Given the description of an element on the screen output the (x, y) to click on. 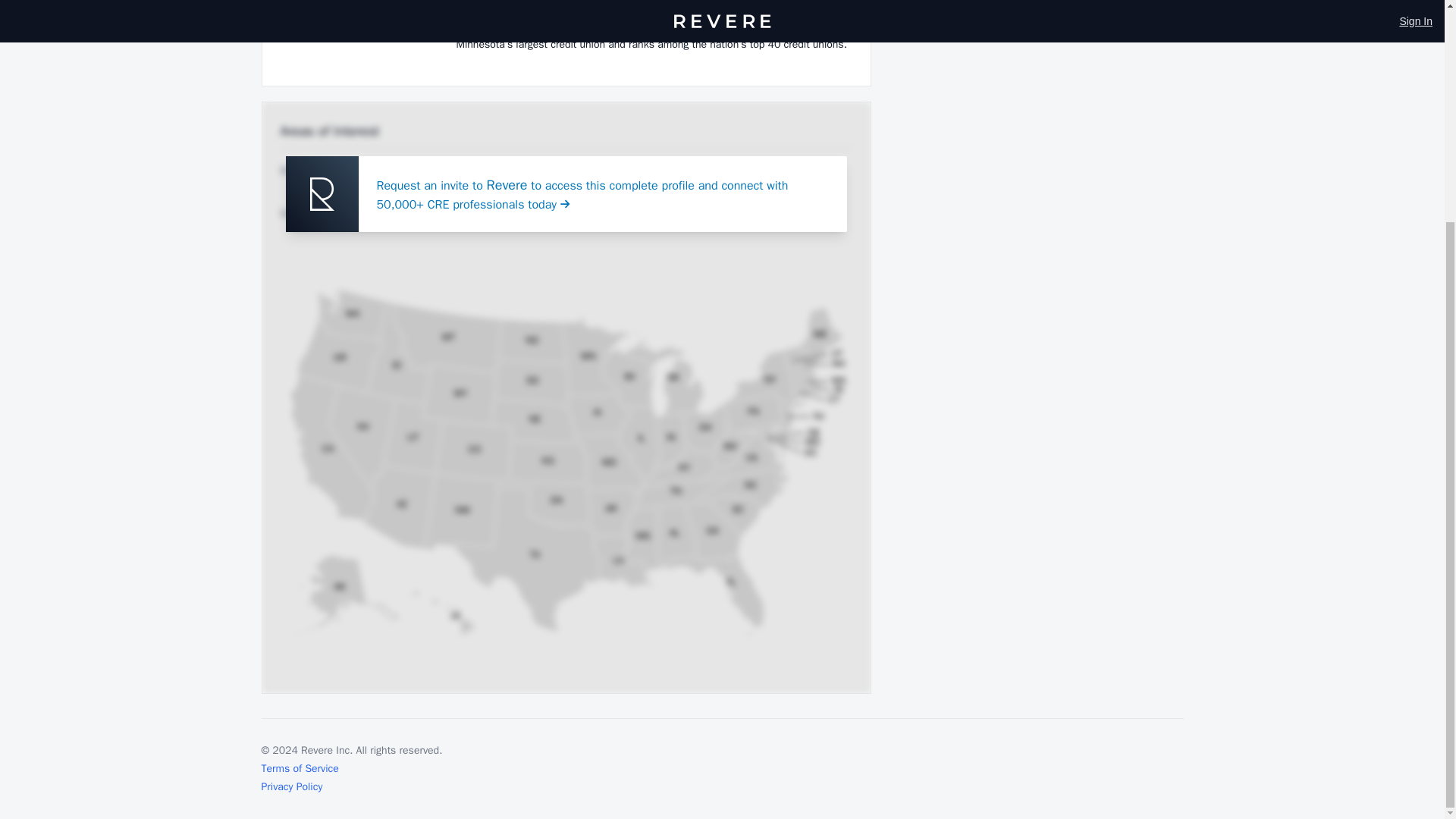
Terms of Service (298, 767)
Privacy Policy (290, 785)
